Given the description of an element on the screen output the (x, y) to click on. 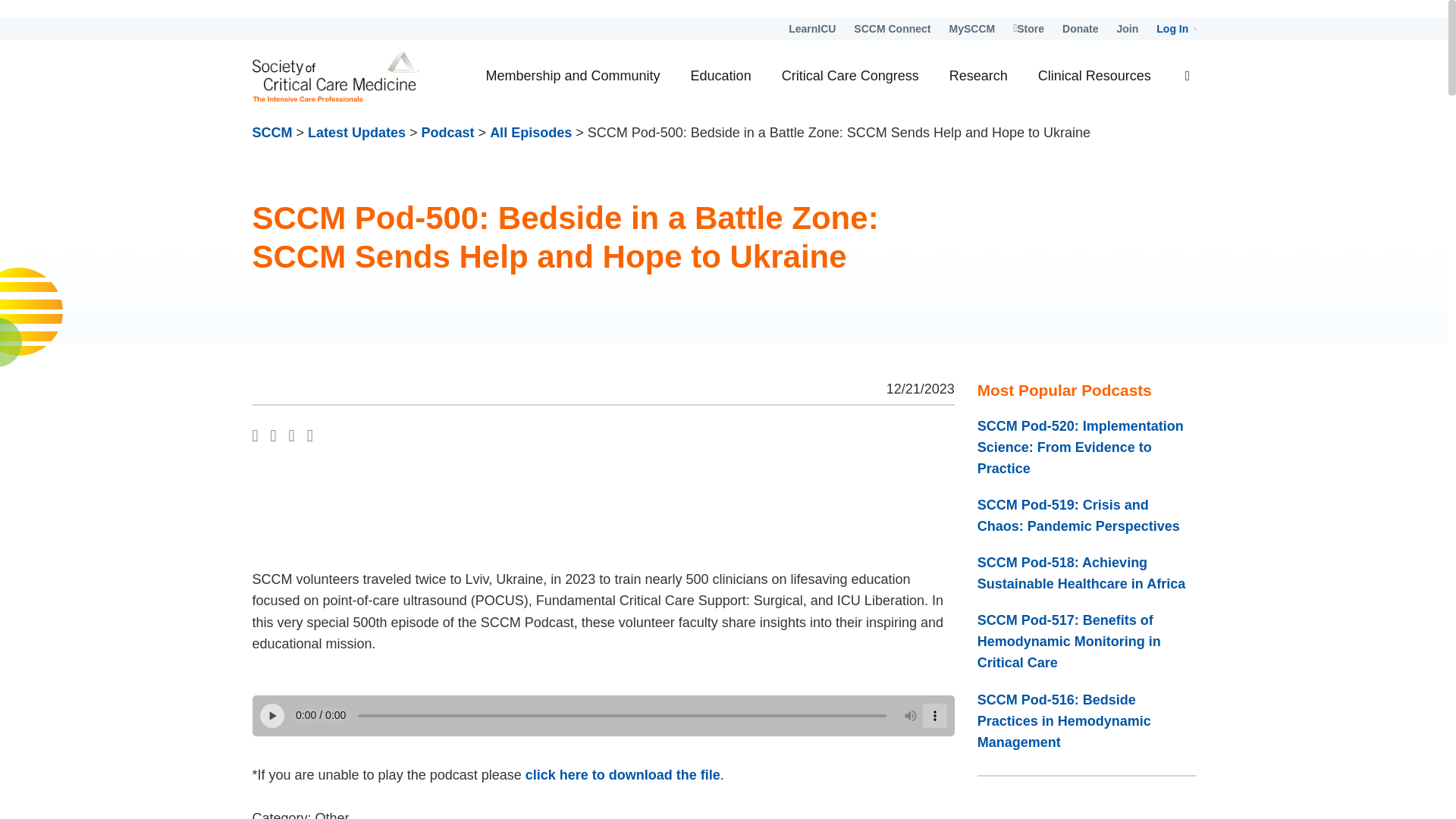
Log In (1175, 28)
Membership and Community (572, 76)
Store (1028, 28)
Education (720, 76)
Share by Email (310, 436)
Donate (1079, 28)
LINKEDIN (291, 436)
FACEBOOK (254, 436)
TWITTER (273, 436)
MySCCM (971, 28)
SCCM Connect (891, 28)
Join (1127, 28)
LearnICU (812, 28)
